Given the description of an element on the screen output the (x, y) to click on. 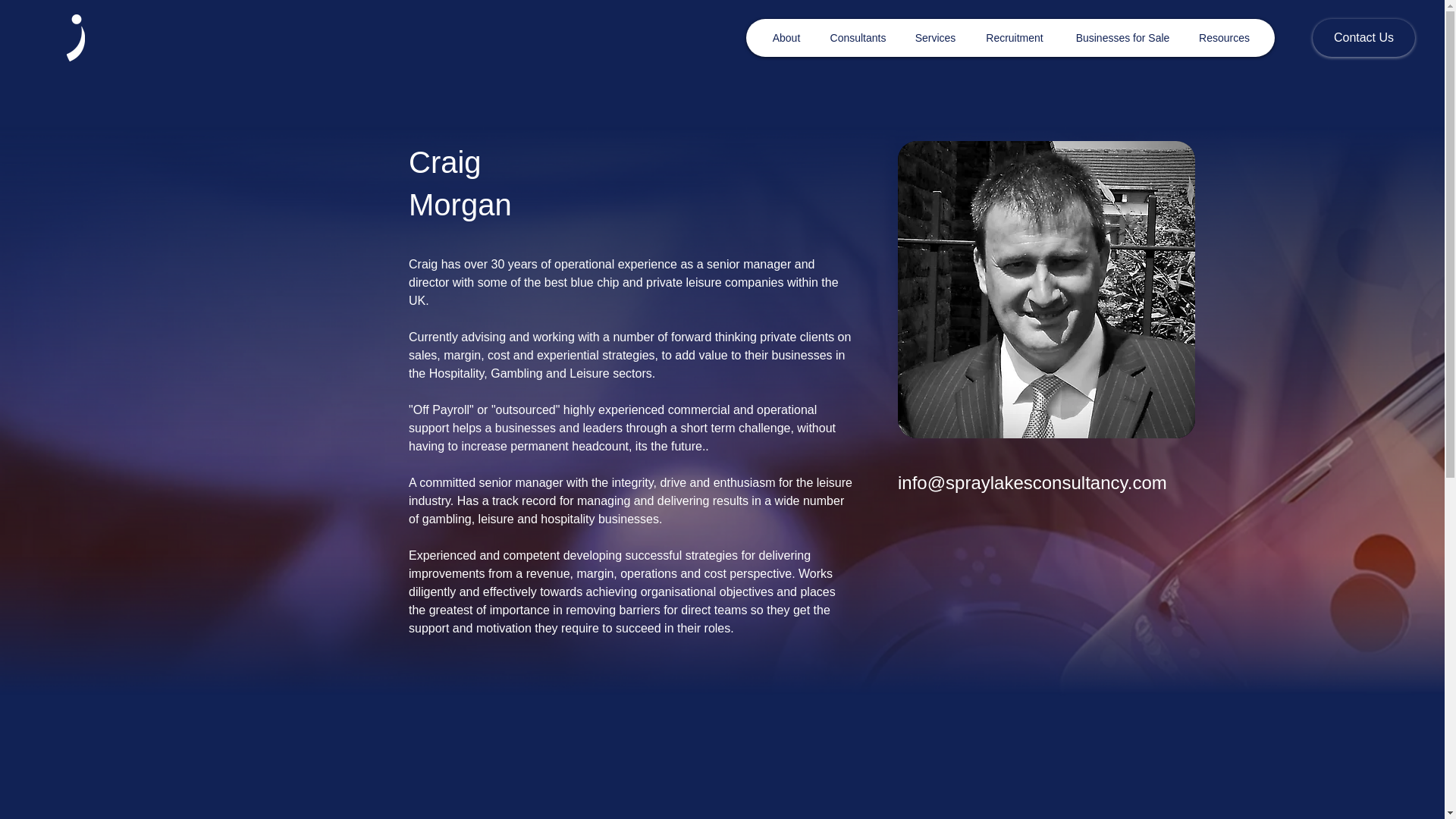
Businesses for Sale (1122, 37)
Consultants (857, 37)
Recruitment (1014, 37)
Contact Us (1364, 37)
4D28CB33-1E23-4CEF-B0D0-8631FFAD9214.jpeg (1046, 289)
About (785, 37)
Services (934, 37)
